Given the description of an element on the screen output the (x, y) to click on. 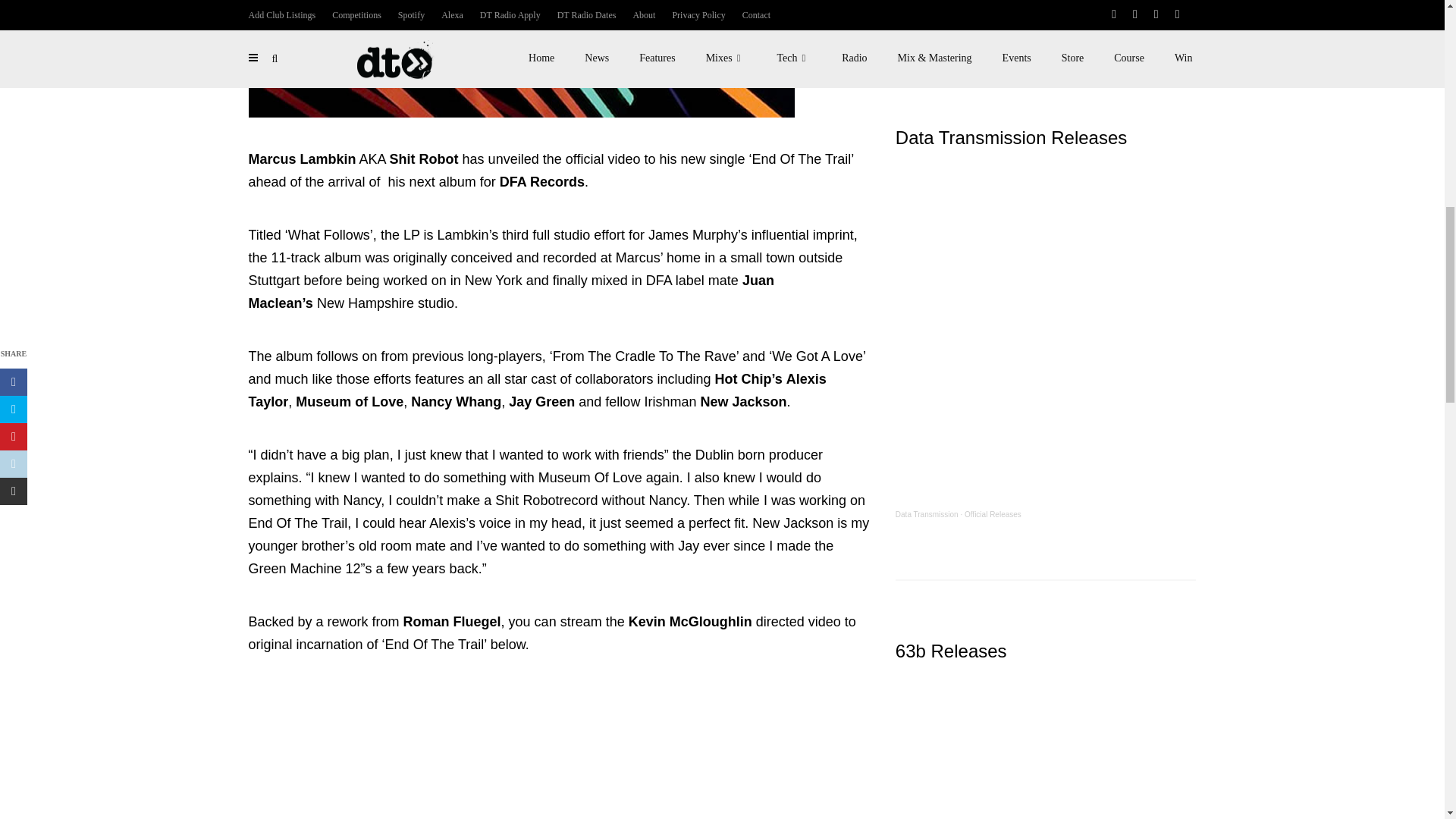
Data Transmission (926, 514)
End of the Trail - Shit Robot Ft.Alexis Taylor (560, 752)
Official Releases (992, 514)
